Given the description of an element on the screen output the (x, y) to click on. 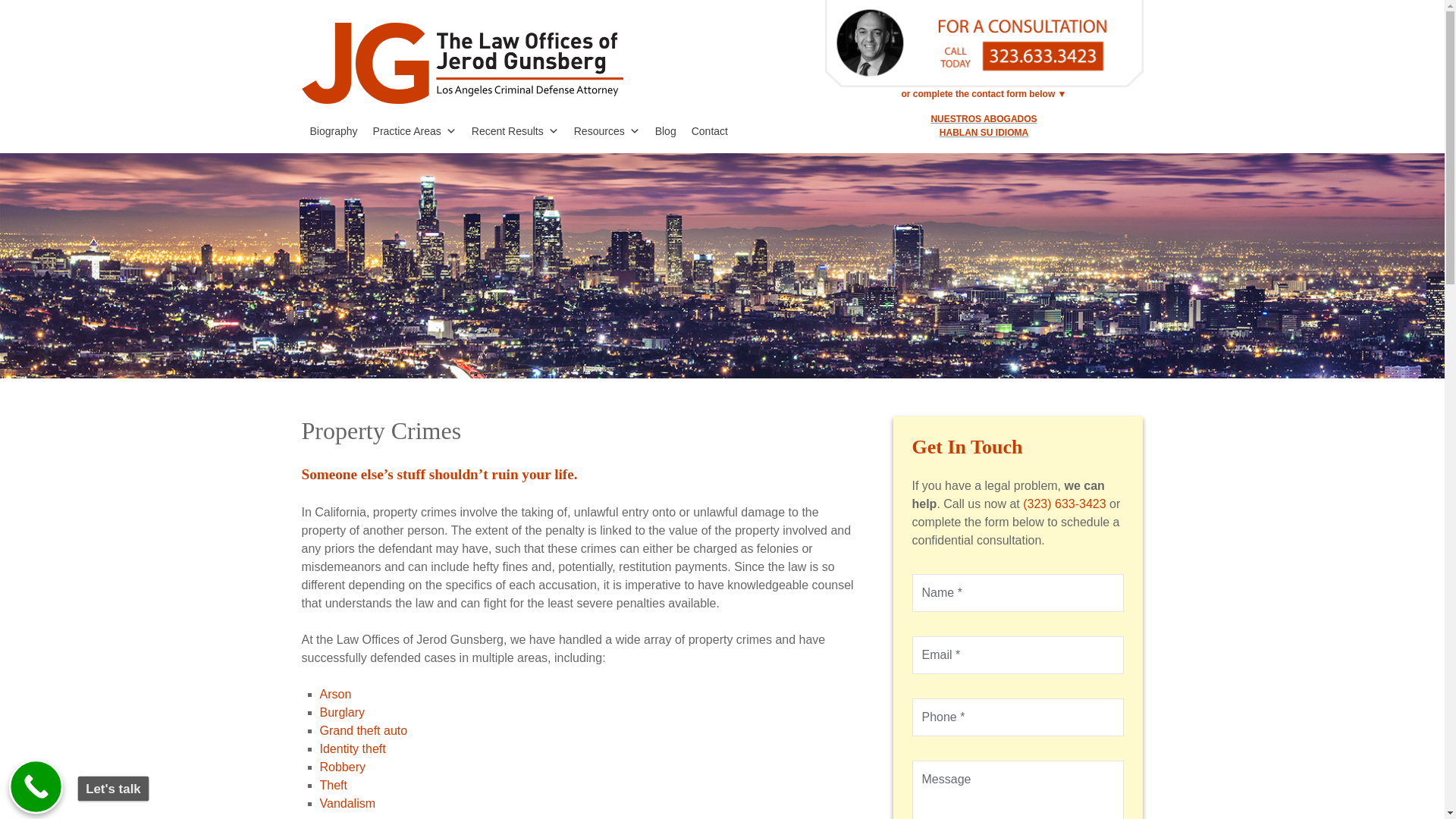
Biography (333, 130)
Practice Areas (414, 130)
